Given the description of an element on the screen output the (x, y) to click on. 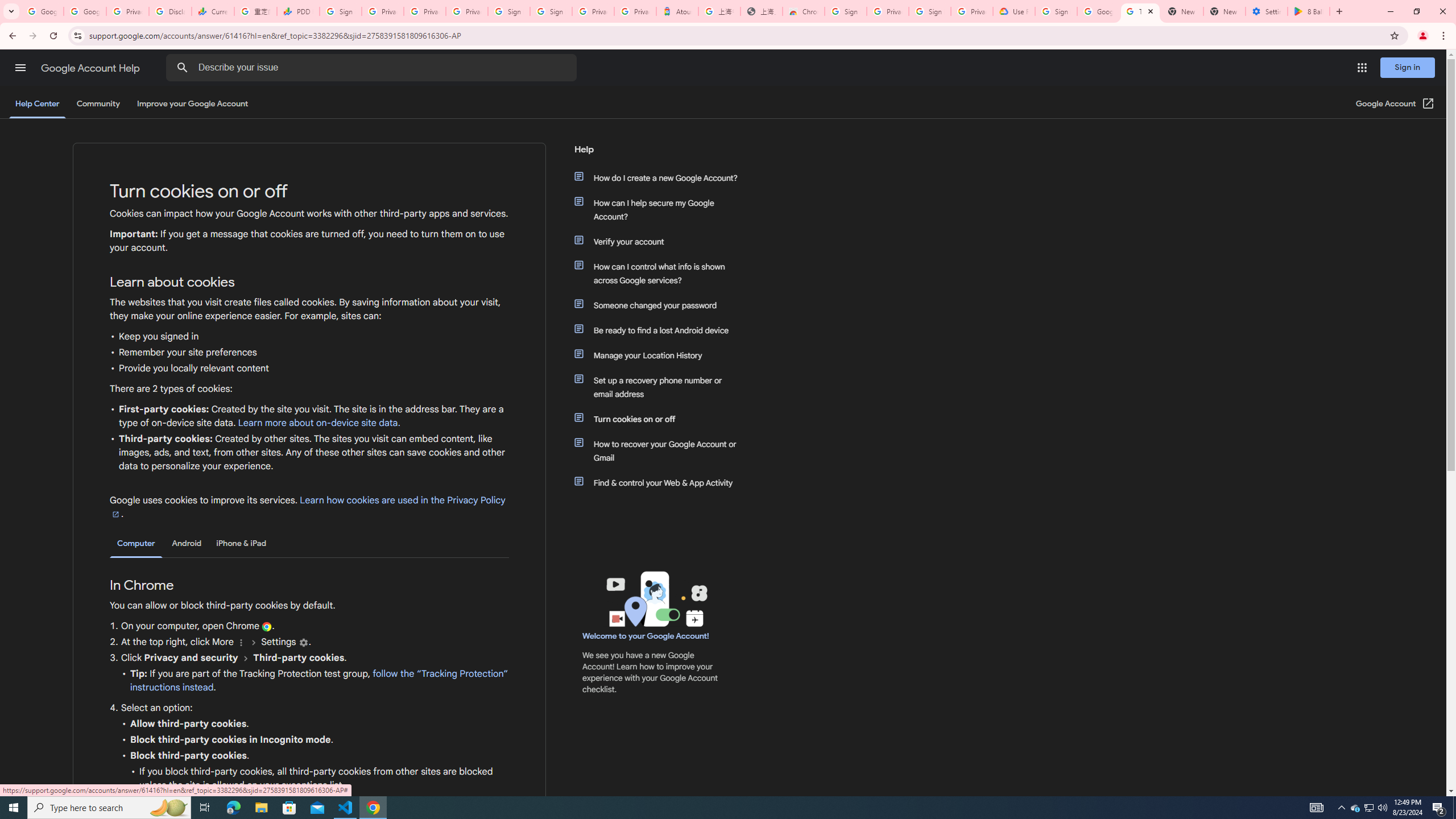
Sign in - Google Accounts (1055, 11)
How can I help secure my Google Account? (661, 209)
Sign in - Google Accounts (845, 11)
Android (186, 542)
Someone changed your password (661, 305)
Set up a recovery phone number or email address (661, 387)
New Tab (1224, 11)
